Given the description of an element on the screen output the (x, y) to click on. 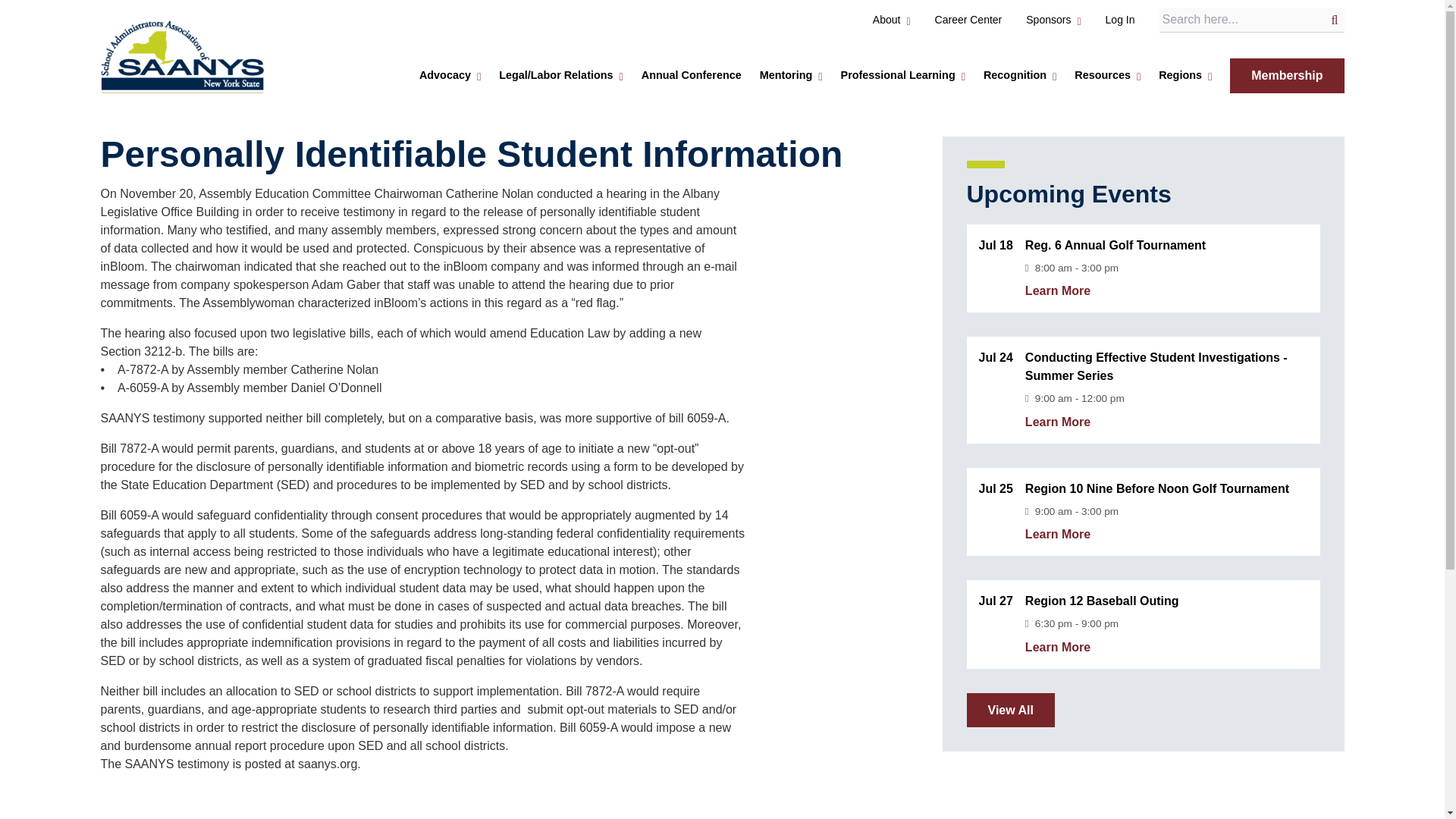
Mentoring (786, 75)
Annual Conference (691, 75)
Resources (1102, 75)
Advocacy (444, 75)
Professional Learning (898, 75)
Recognition (1015, 75)
